Given the description of an element on the screen output the (x, y) to click on. 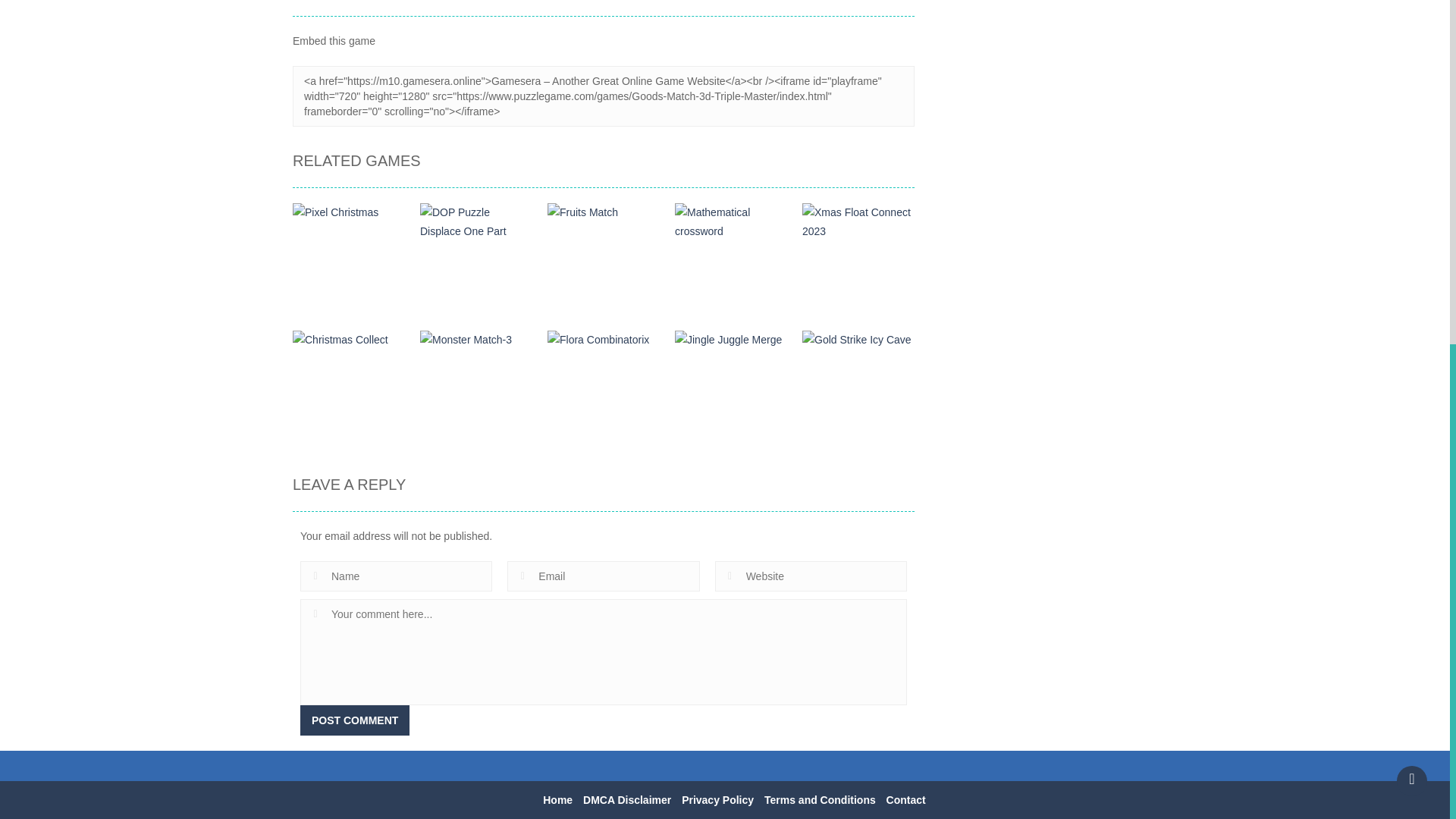
Post Comment (354, 720)
